Given the description of an element on the screen output the (x, y) to click on. 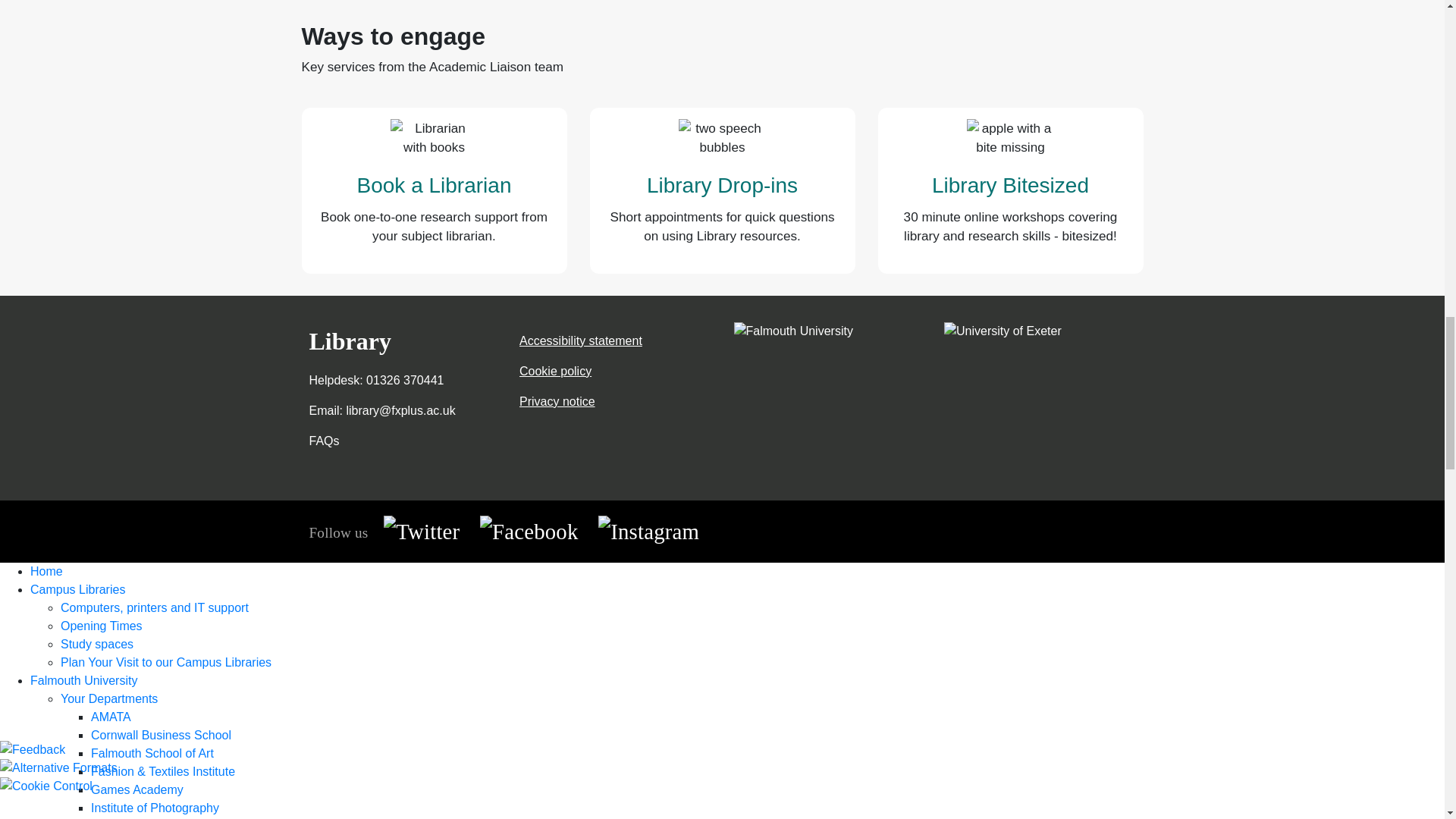
Resources and support for Fashion and Textiles (162, 770)
Book a Librarian (434, 185)
Places to work (97, 643)
Falmouth and Penryn campus libraries (77, 588)
Resources and support for Games Academy (136, 788)
About our IT facilities (154, 606)
Follow us on Facebook (529, 530)
Home (349, 340)
Follow us on Twitter (421, 530)
Resources and support for Falmouth School of Art (152, 752)
Resources and support for AMATA (110, 716)
Library Bitesized (1010, 185)
Follow us on Instagram (648, 530)
Resources and support for CBS (160, 734)
Resources and support for IoP (154, 807)
